Given the description of an element on the screen output the (x, y) to click on. 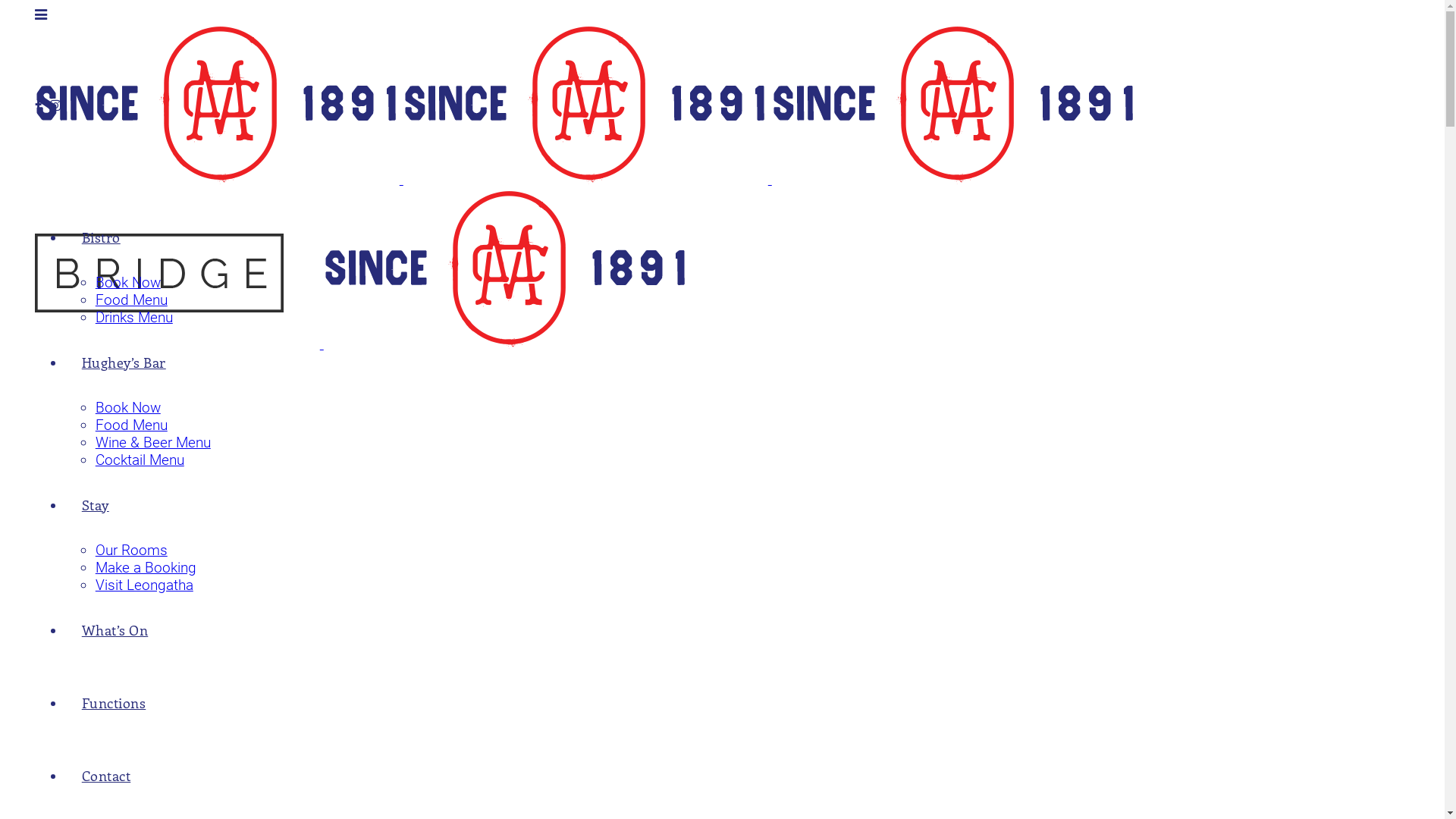
Bistro Element type: text (101, 237)
Drinks Menu Element type: text (133, 317)
Stay Element type: text (95, 504)
Contact Element type: text (106, 775)
Book Now Element type: text (127, 282)
Functions Element type: text (114, 702)
Visit Leongatha Element type: text (144, 584)
Book Now Element type: text (127, 407)
Food Menu Element type: text (131, 424)
Food Menu Element type: text (131, 299)
Wine & Beer Menu Element type: text (152, 442)
Cocktail Menu Element type: text (139, 459)
Make a Booking Element type: text (145, 567)
Our Rooms Element type: text (131, 549)
